Given the description of an element on the screen output the (x, y) to click on. 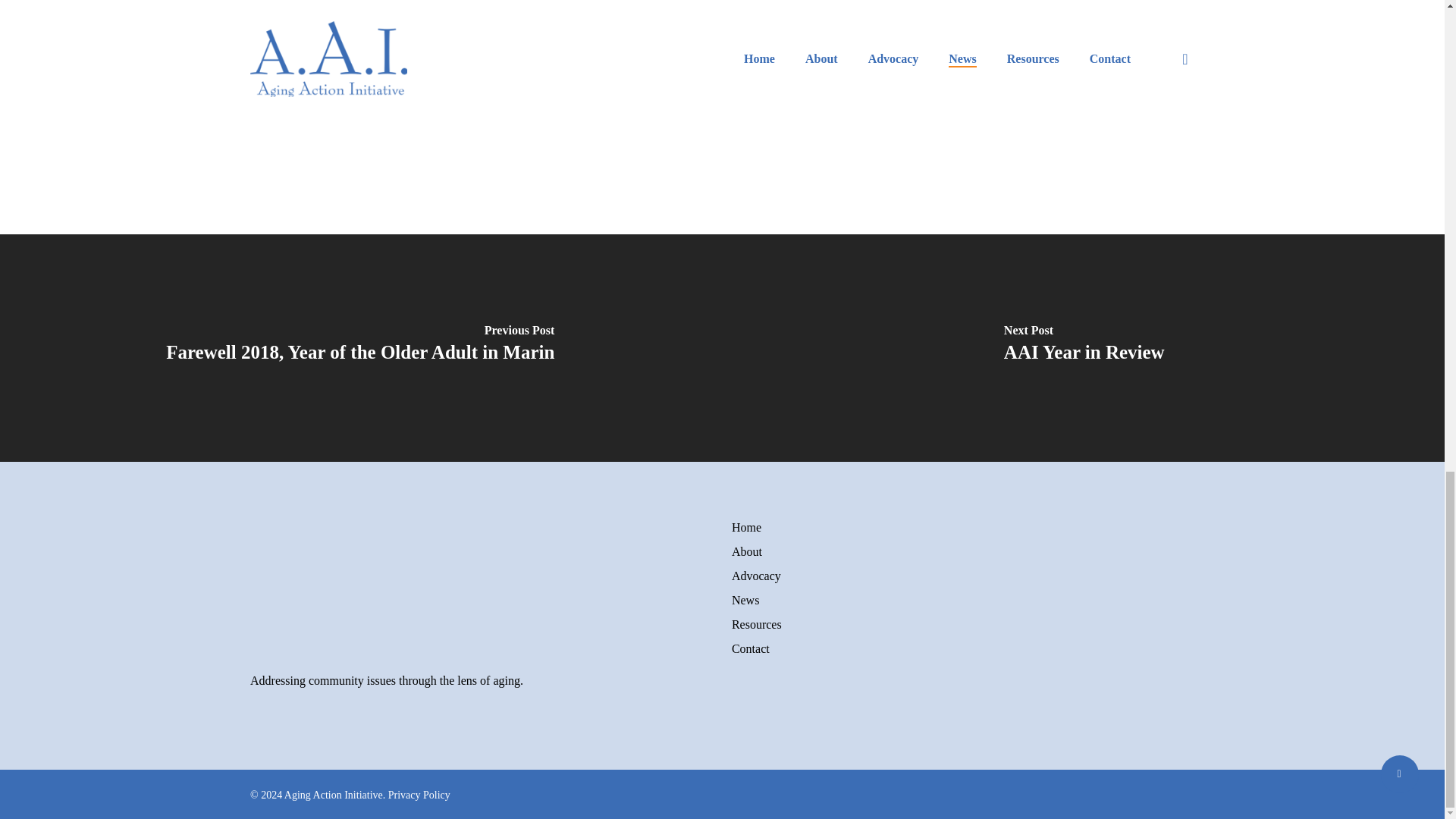
Advocacy (962, 576)
Home (962, 527)
Privacy Policy (418, 794)
News (962, 600)
Contact (962, 648)
About (962, 551)
Resources (962, 624)
